Given the description of an element on the screen output the (x, y) to click on. 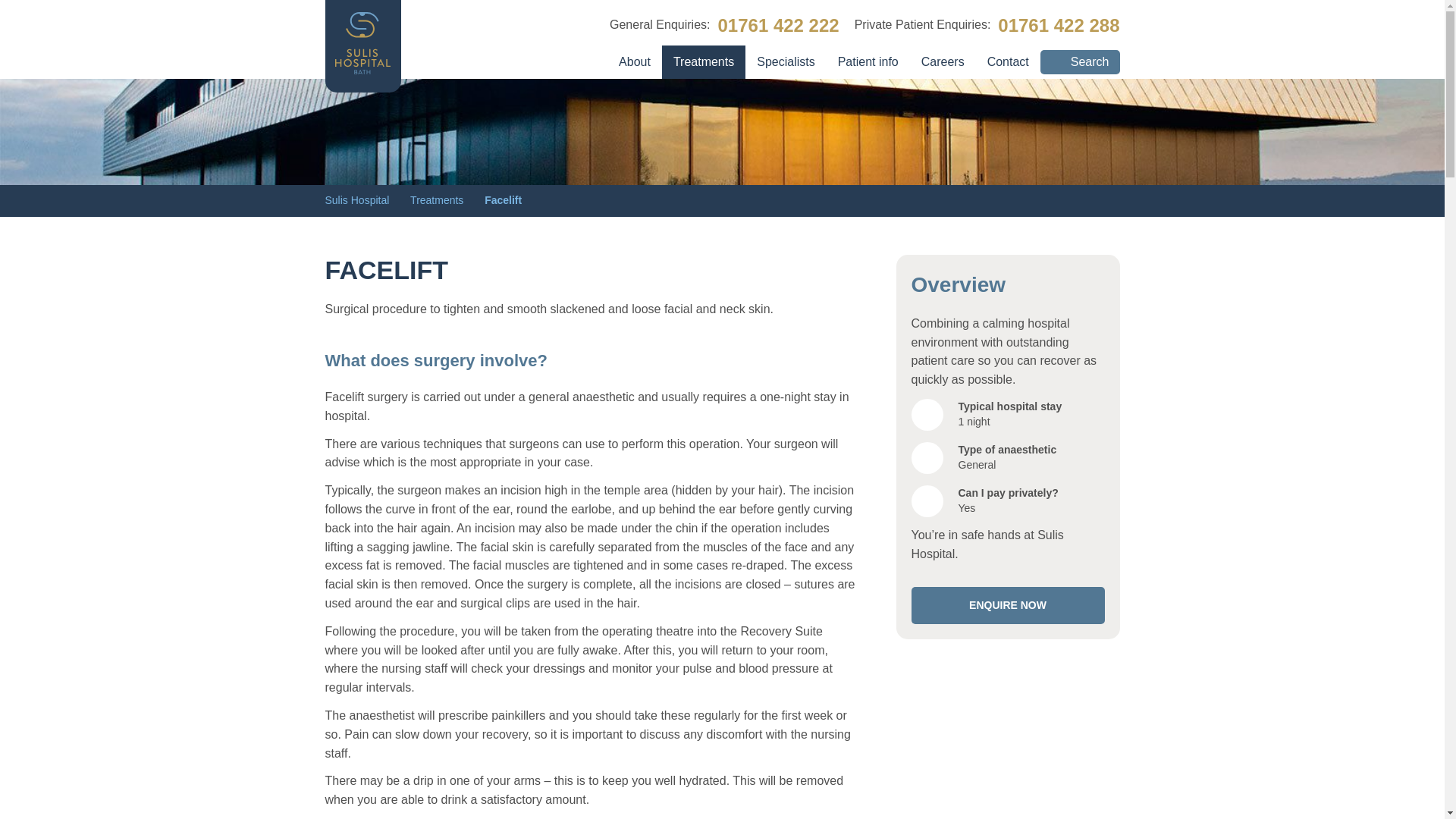
Contact (1008, 61)
ENQUIRE NOW (1008, 605)
Search (1080, 61)
Sulis Hospital (365, 200)
About (634, 61)
01761 422 222 (777, 25)
Treatments (445, 200)
Careers (942, 61)
Treatments (703, 61)
01761 422 288 (1058, 25)
